Given the description of an element on the screen output the (x, y) to click on. 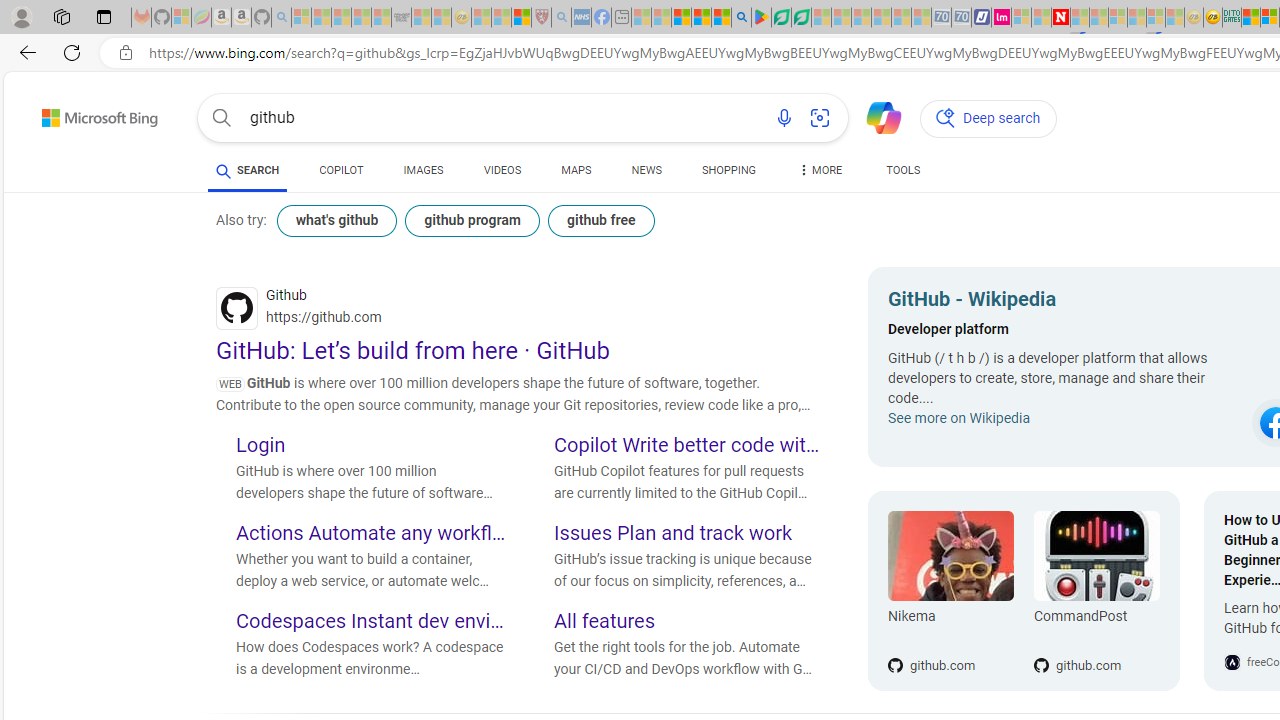
github free (600, 220)
Search using voice (783, 117)
google - Search (741, 17)
Skip to content (64, 111)
Cheap Car Rentals - Save70.com - Sleeping (941, 17)
Nikema (950, 619)
New Report Confirms 2023 Was Record Hot | Watch - Sleeping (381, 17)
CommandPost (1096, 619)
SEARCH (247, 170)
Dropdown Menu (819, 170)
SHOPPING (728, 173)
